Given the description of an element on the screen output the (x, y) to click on. 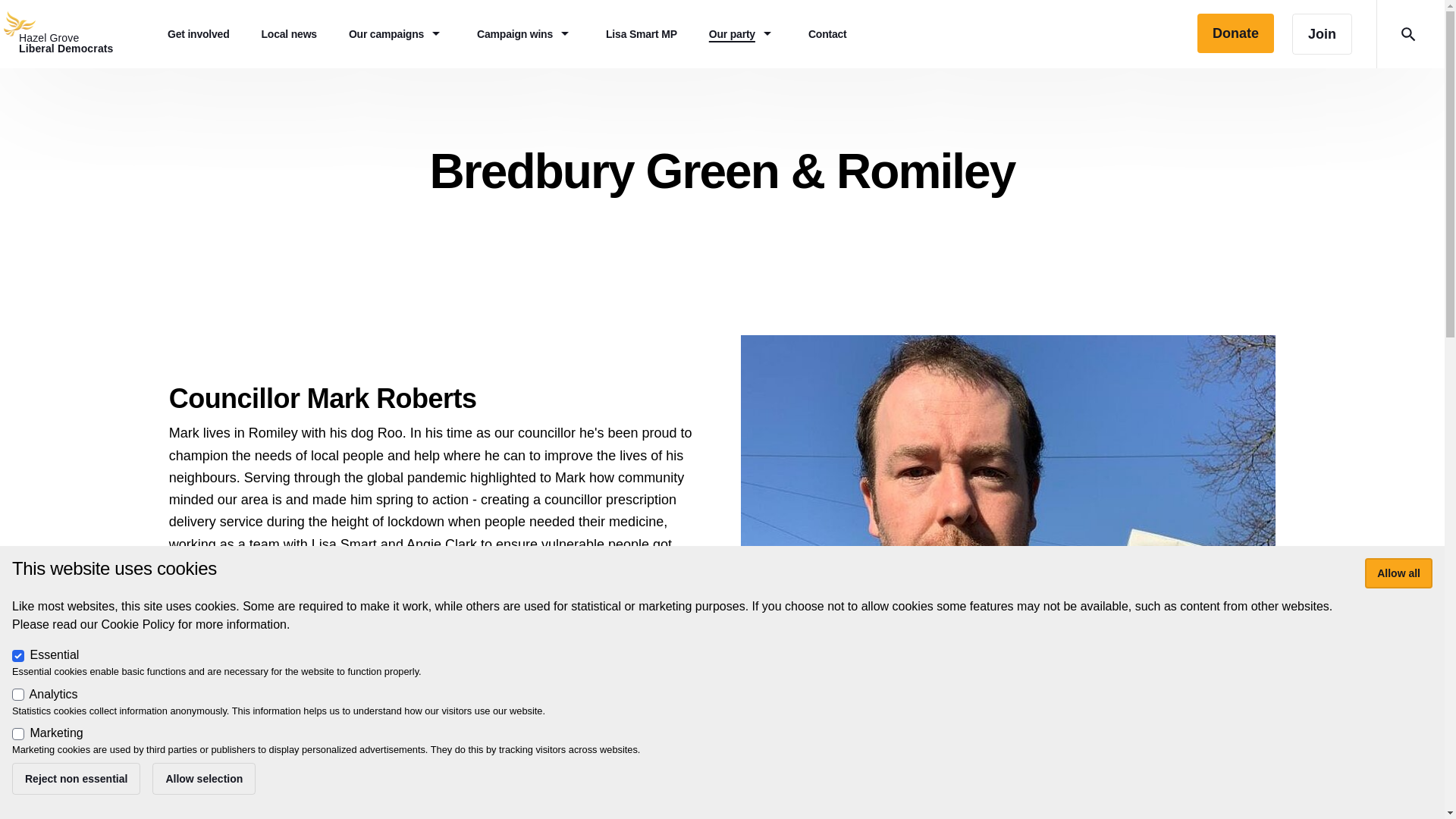
Allow selection (204, 778)
Donate (1235, 33)
Join (1322, 33)
Our party (742, 33)
Lisa Smart MP (641, 33)
1 (75, 33)
Campaign wins (17, 694)
Get involved (525, 33)
Return to home page (198, 33)
1 (75, 33)
Our campaigns (17, 734)
Allow all (397, 33)
Contact (1398, 572)
1 (827, 33)
